Given the description of an element on the screen output the (x, y) to click on. 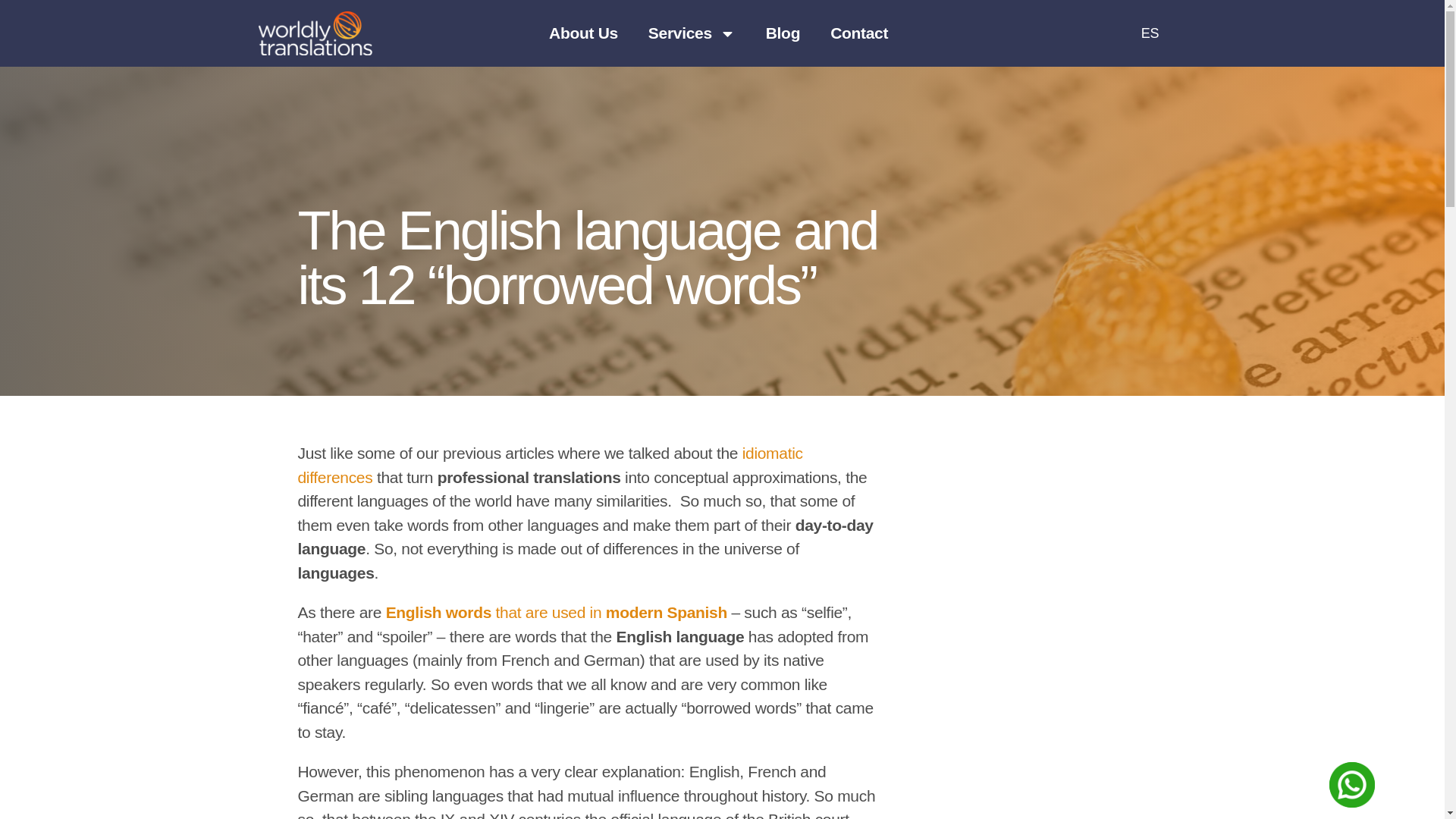
ES (1124, 33)
About Us (583, 32)
Blog (783, 32)
Contact (858, 32)
worldly-logo (315, 33)
idiomatic differences (549, 465)
Services (692, 32)
English words that are used in modern Spanish (555, 611)
